Given the description of an element on the screen output the (x, y) to click on. 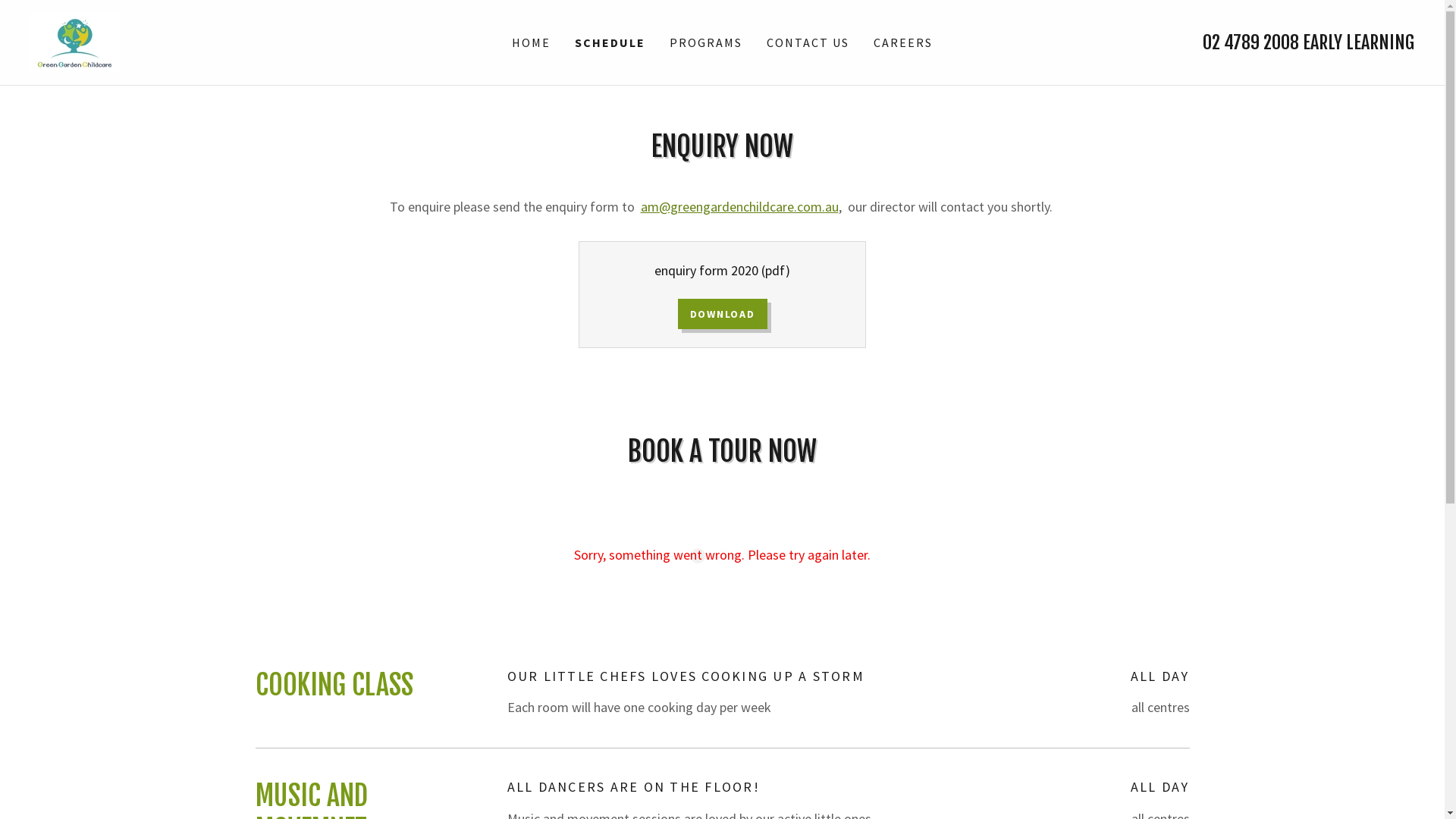
PROGRAMS Element type: text (705, 42)
am@greengardenchildcare.com.au Element type: text (738, 206)
HOME Element type: text (531, 42)
02 4789 2008 Element type: text (1250, 42)
CAREERS Element type: text (903, 42)
DOWNLOAD Element type: text (722, 313)
SCHEDULE Element type: text (609, 42)
CONTACT US Element type: text (807, 42)
